Given the description of an element on the screen output the (x, y) to click on. 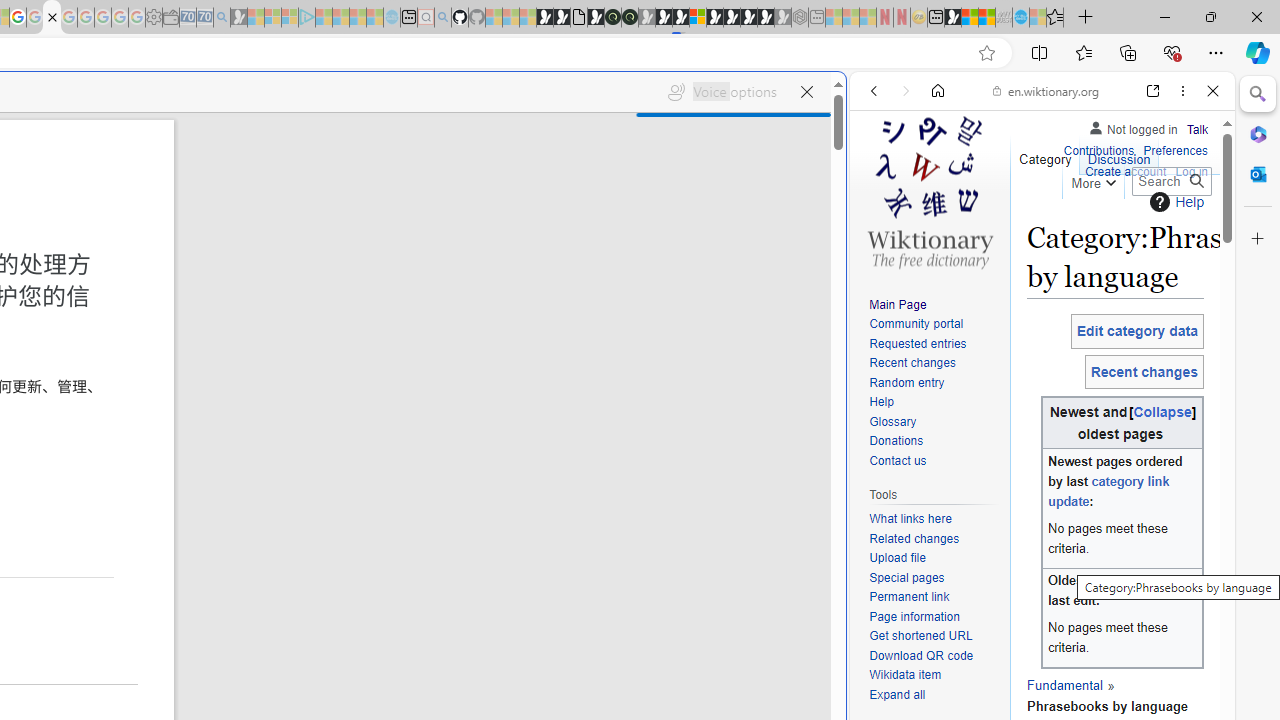
Community portal (934, 324)
Community portal (916, 323)
Tabs you've opened (276, 265)
Talk (1197, 126)
Contributions (1098, 148)
